Given the description of an element on the screen output the (x, y) to click on. 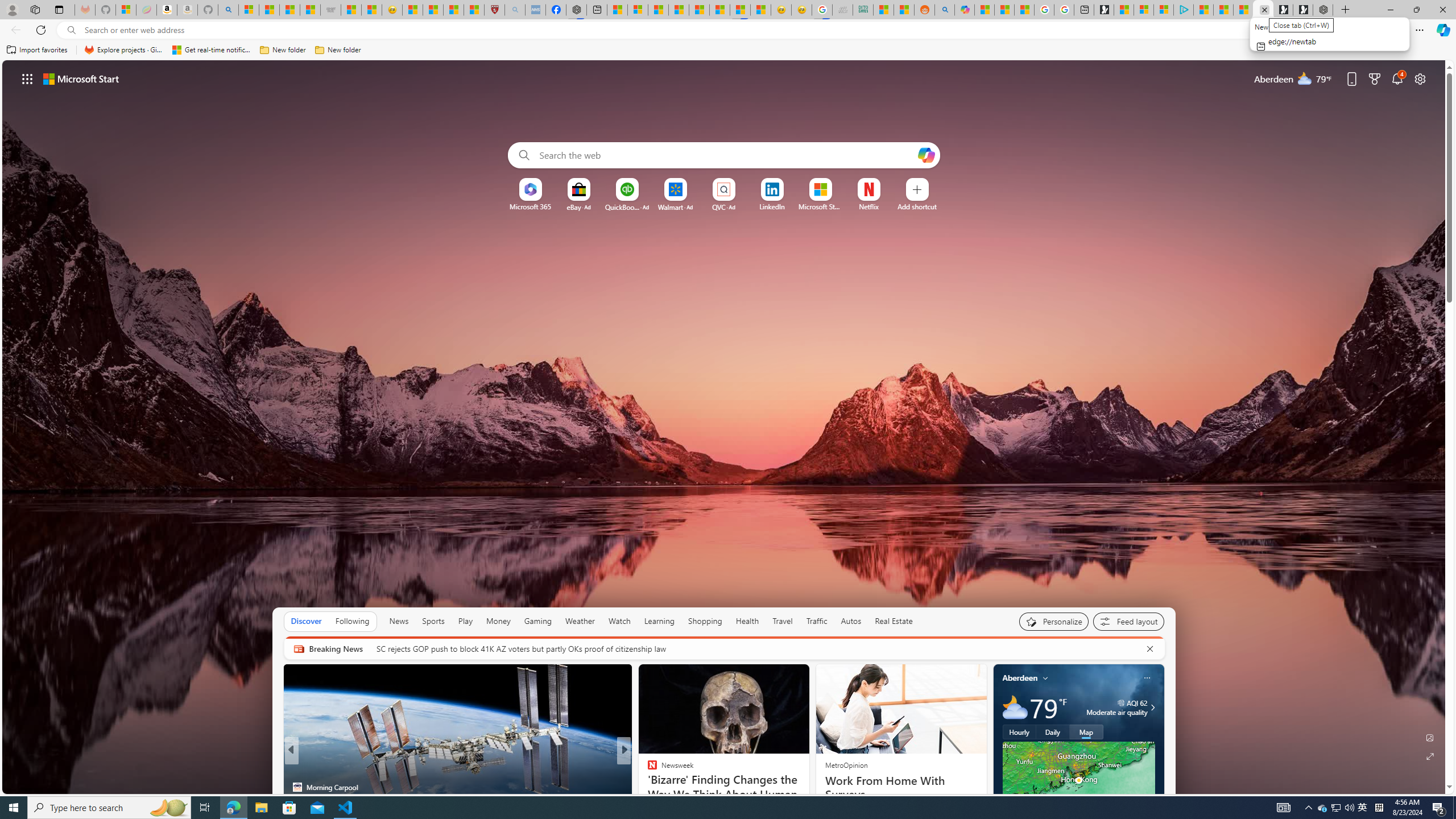
PC World (647, 768)
The Independent (647, 768)
aqi-icon (1121, 702)
Microsoft start (81, 78)
AutomationID: backgroundImagePicture (723, 426)
Aberdeen (1019, 678)
